Given the description of an element on the screen output the (x, y) to click on. 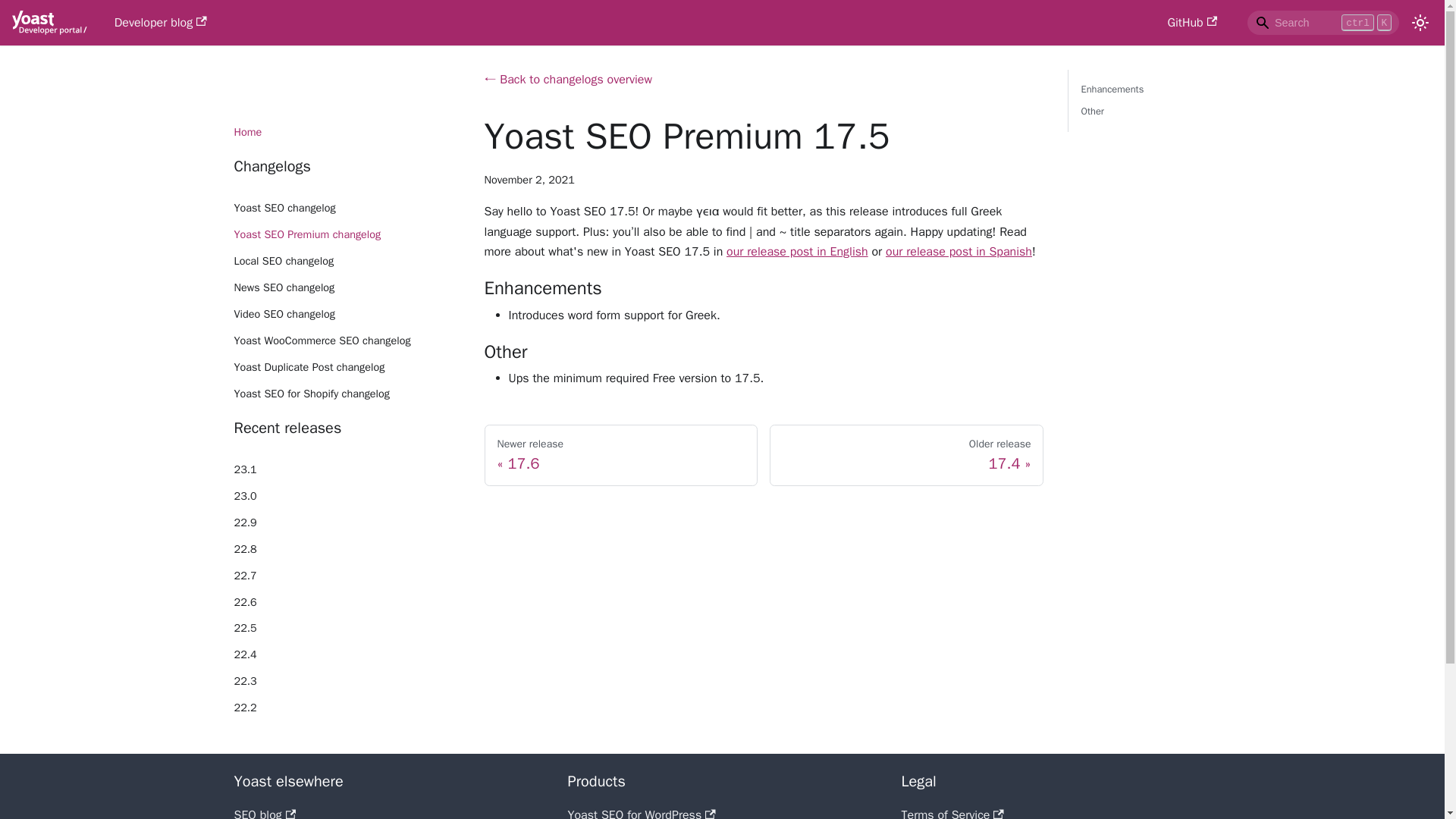
Yoast SEO for WordPress (640, 813)
News SEO changelog (346, 288)
Local SEO changelog (346, 261)
22.2 (346, 708)
22.4 (346, 655)
22.8 (346, 549)
22.9 (346, 523)
Yoast SEO changelog (346, 208)
GitHub (1191, 22)
our release post in English (1138, 100)
Yoast WooCommerce SEO changelog (796, 251)
Developer blog (620, 455)
22.7 (346, 341)
